Given the description of an element on the screen output the (x, y) to click on. 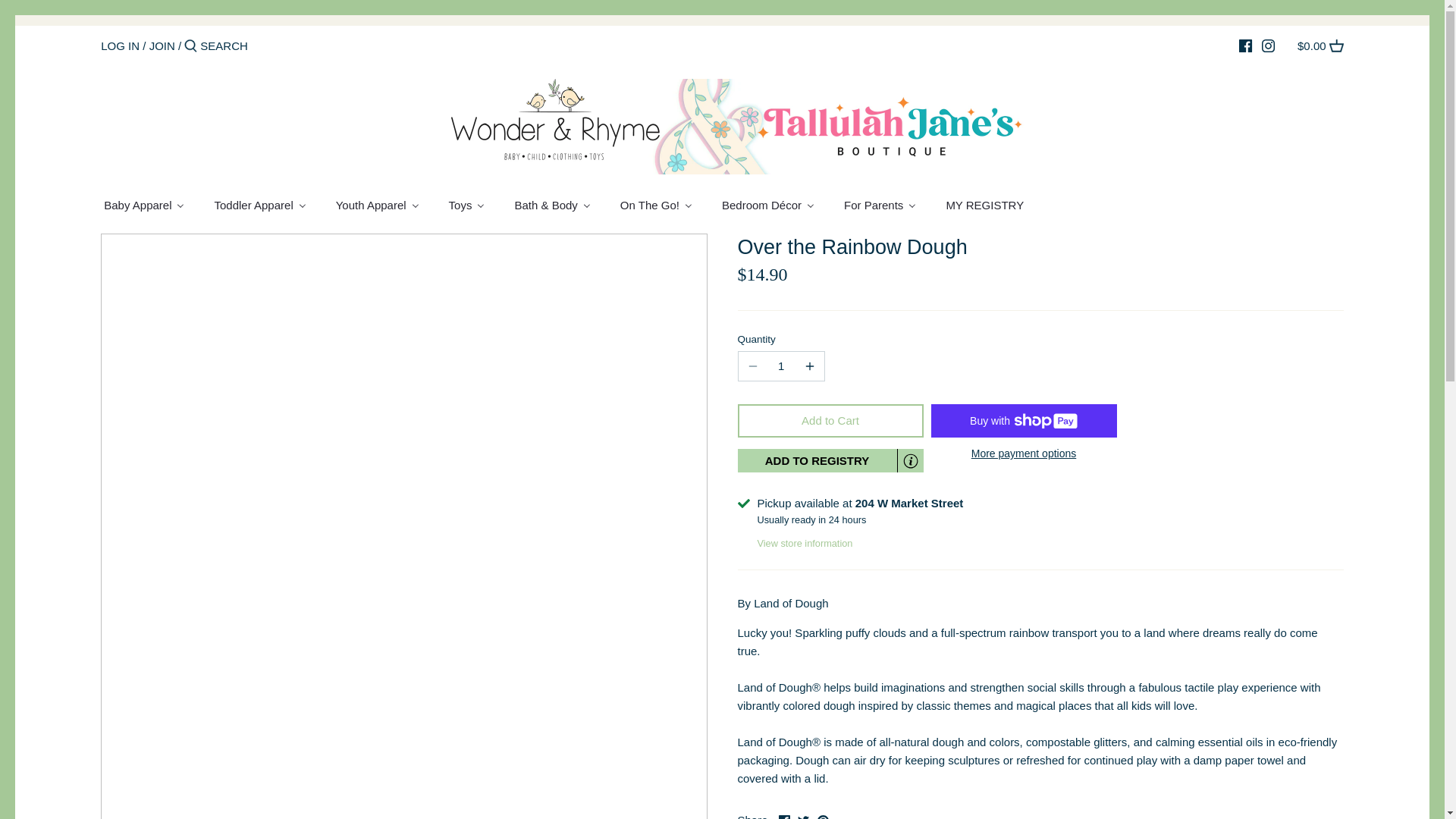
Baby Apparel (149, 206)
FACEBOOK (1245, 45)
Twitter (803, 816)
1 (781, 366)
INSTAGRAM (1268, 45)
Facebook (784, 816)
Pinterest (822, 816)
LOG IN (119, 45)
JOIN (161, 45)
